Given the description of an element on the screen output the (x, y) to click on. 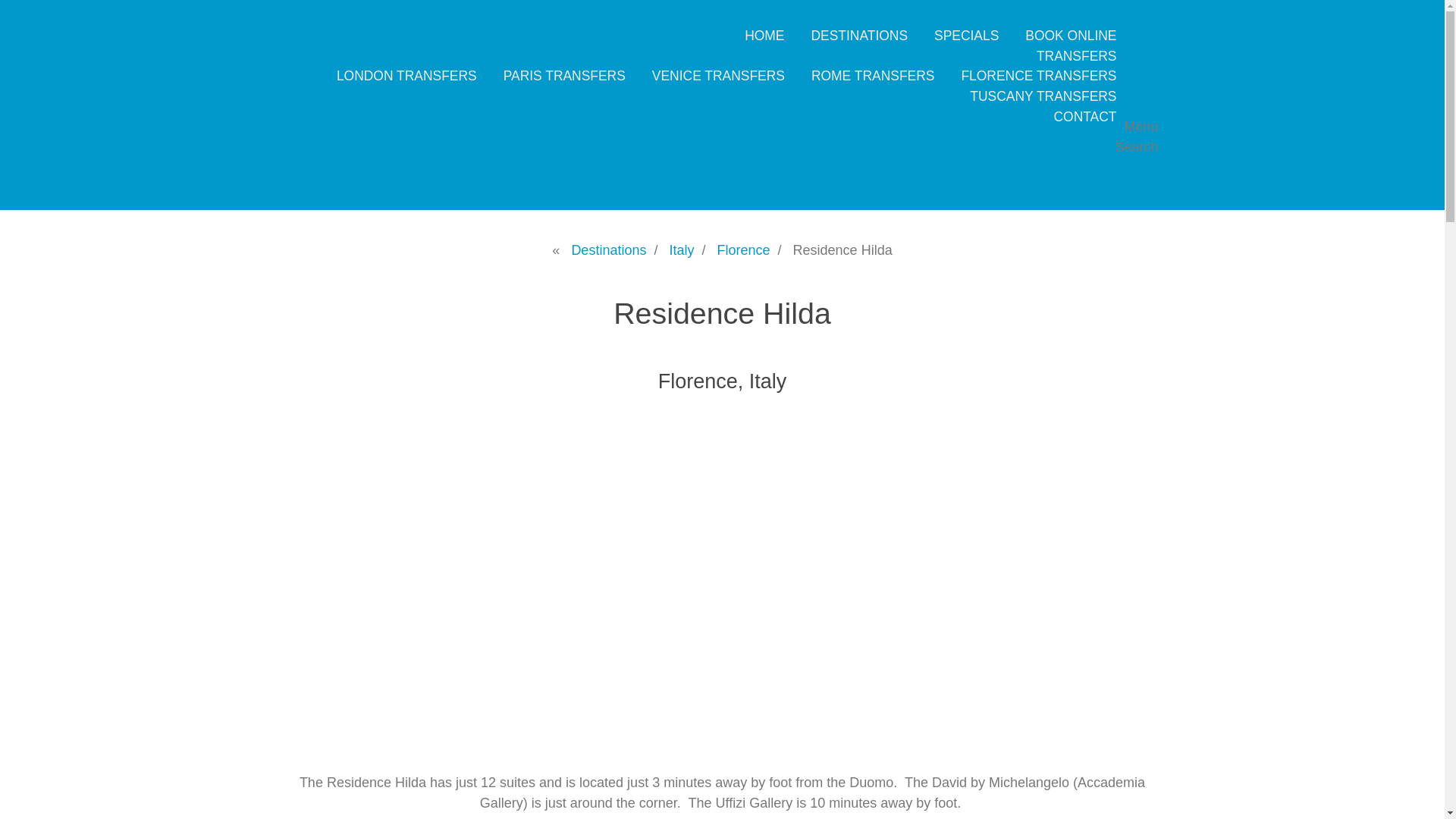
TUSCANY TRANSFERS (1042, 96)
Join us on Facebook (1127, 167)
Go back to Italy (681, 249)
Go back to Destinations (608, 249)
Facebook (1127, 167)
FLORENCE TRANSFERS (1038, 75)
BOOK ONLINE (1070, 35)
Twitter (1137, 187)
Follow us on Twitter (1137, 187)
Florence (743, 249)
SPECIALS (966, 35)
ROME TRANSFERS (872, 75)
CONTACT (1085, 116)
Go back to Florence (743, 249)
LONDON TRANSFERS (406, 75)
